Given the description of an element on the screen output the (x, y) to click on. 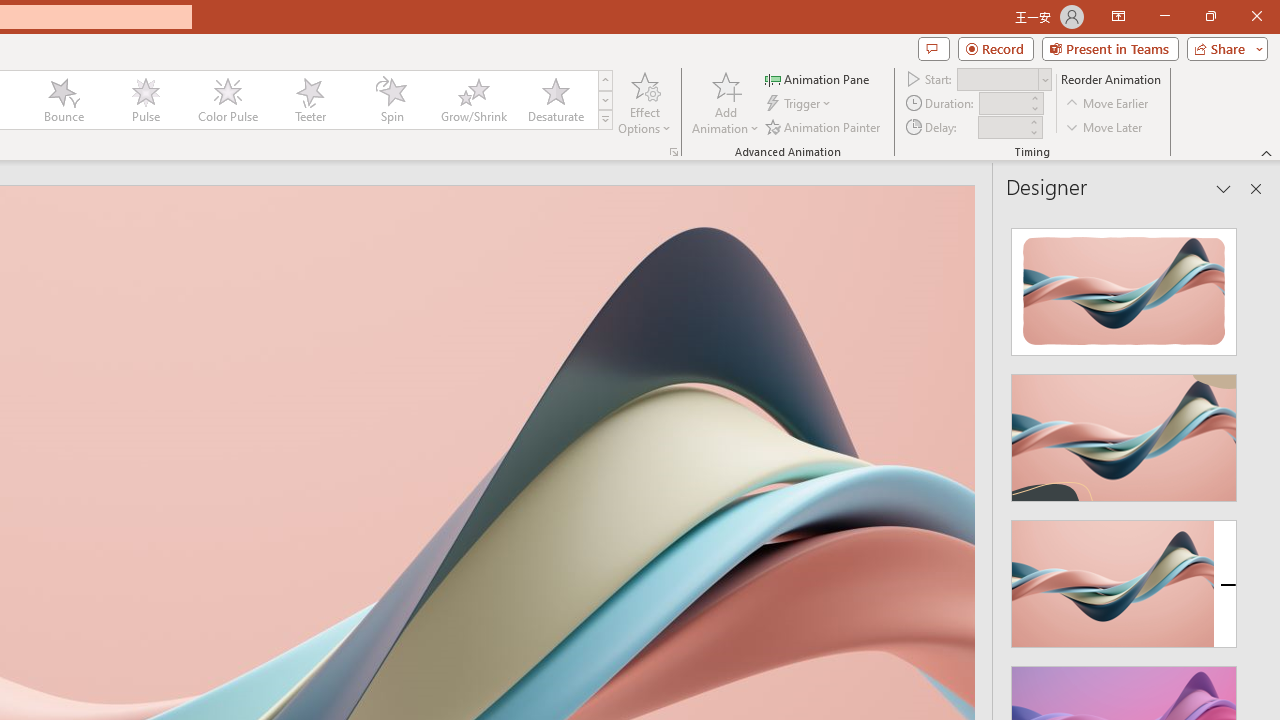
Teeter (309, 100)
Add Animation (725, 102)
Trigger (799, 103)
Pulse (145, 100)
Spin (391, 100)
Move Later (1105, 126)
More Options... (673, 151)
